Given the description of an element on the screen output the (x, y) to click on. 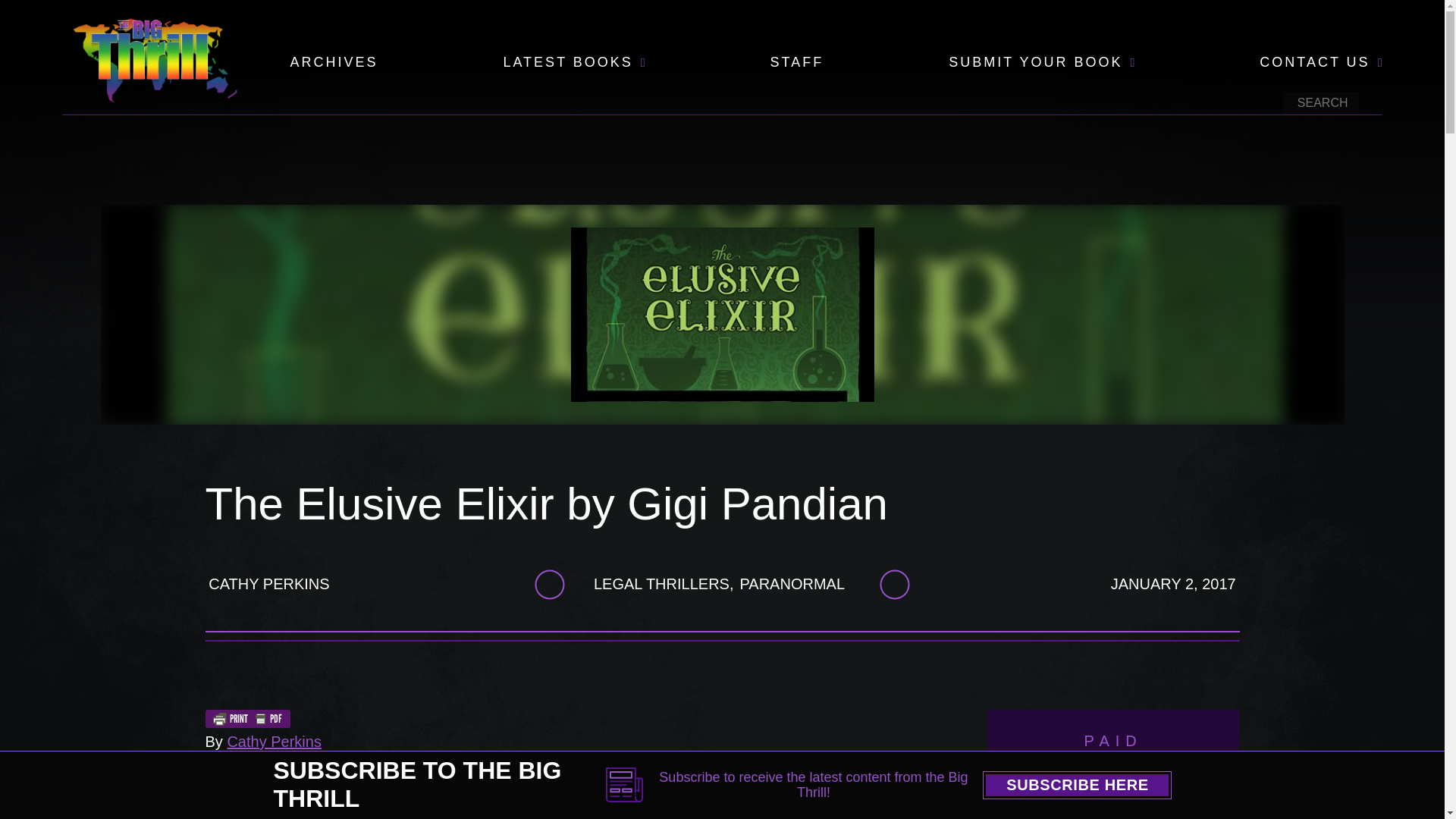
SUBMIT YOUR BOOK (1035, 62)
STAFF (797, 62)
LATEST BOOKS (566, 62)
Motive for Murder by Ray Collins (1113, 807)
ARCHIVES (333, 62)
CONTACT US (1314, 62)
